Given the description of an element on the screen output the (x, y) to click on. 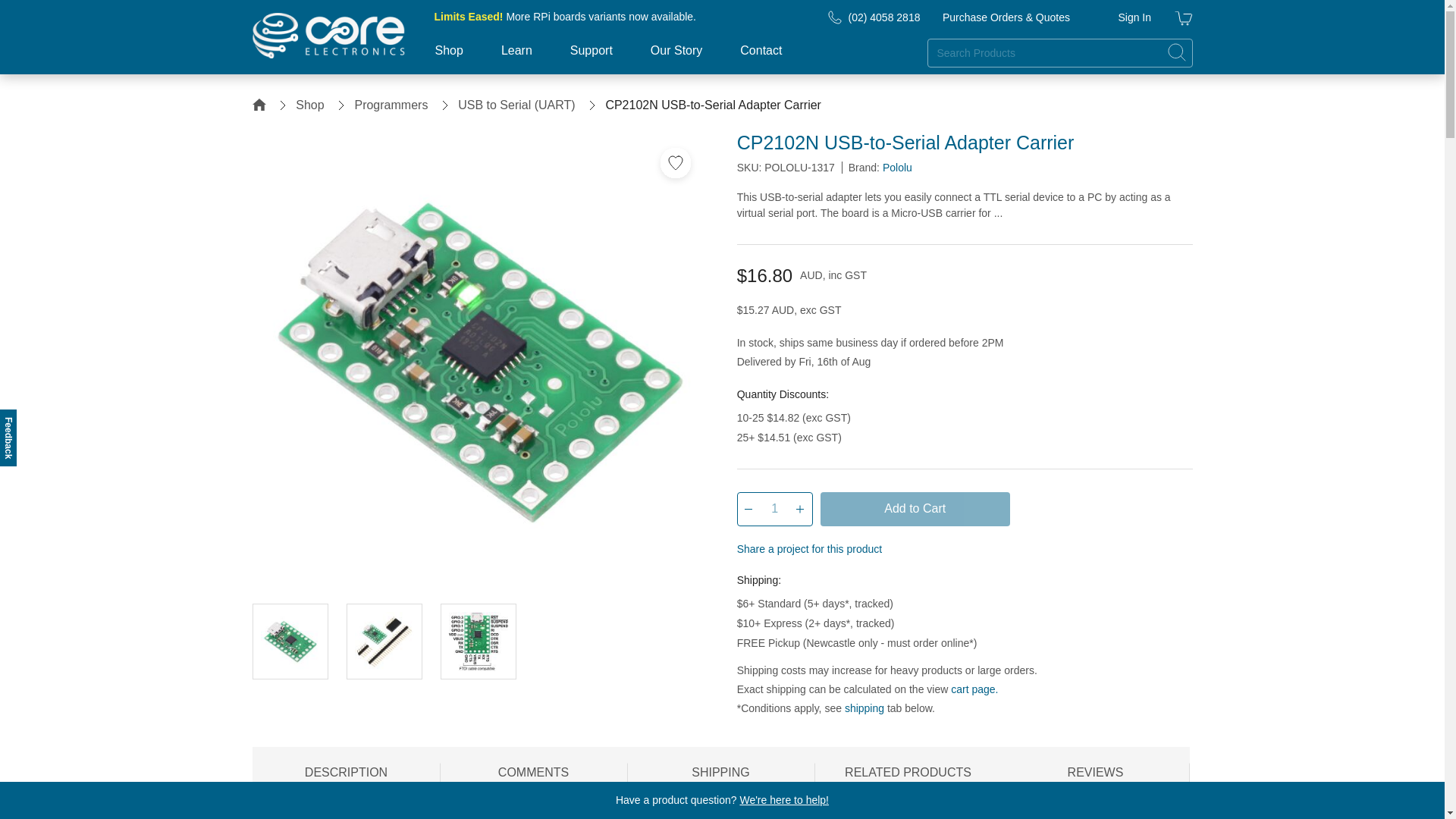
My Cart (1182, 20)
Limits Eased! More RPi boards variants now available. (564, 16)
Shop (447, 59)
Core Electronics (327, 35)
